Given the description of an element on the screen output the (x, y) to click on. 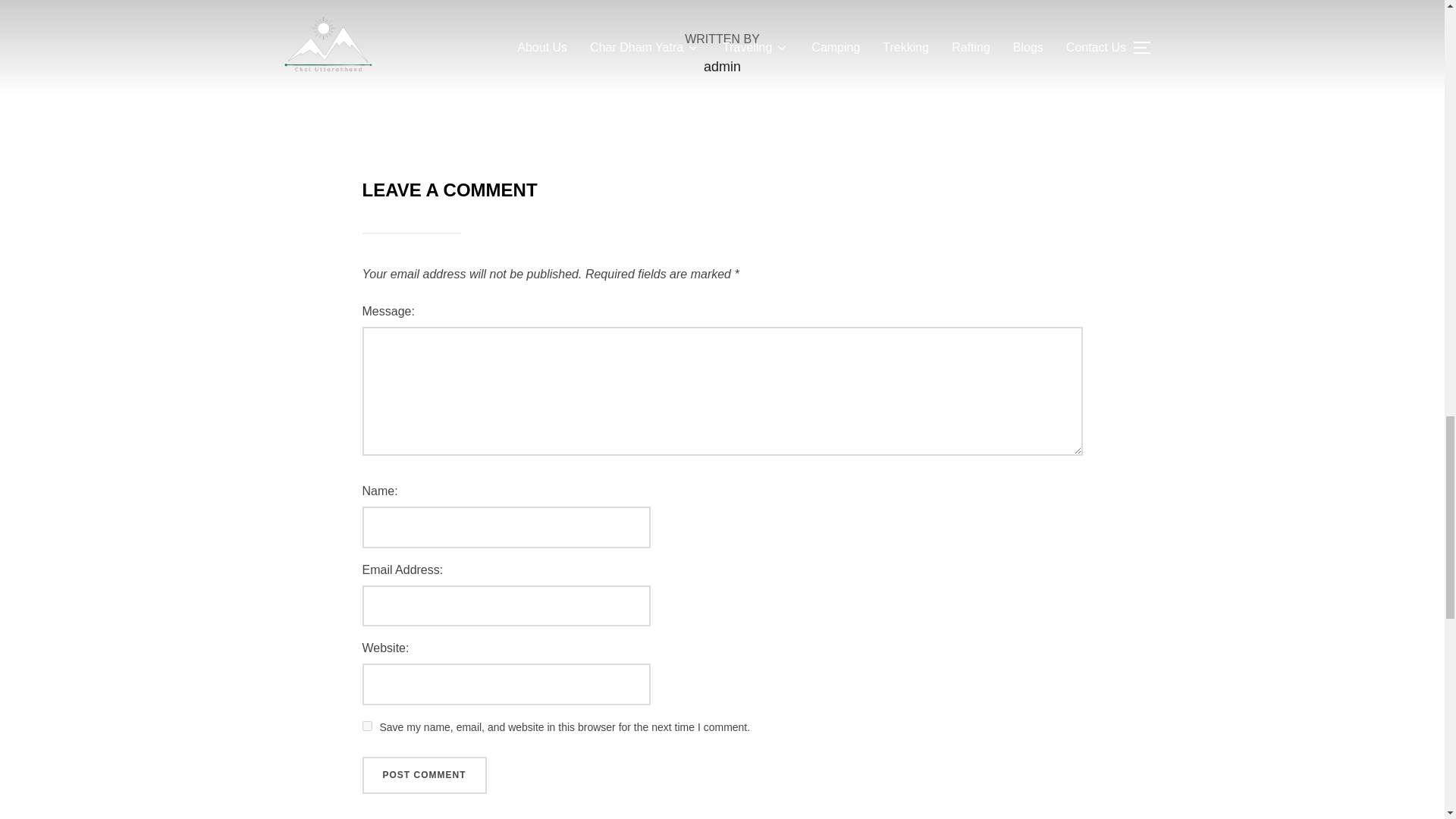
Post Comment (424, 775)
Posts by admin (722, 66)
yes (367, 726)
